Given the description of an element on the screen output the (x, y) to click on. 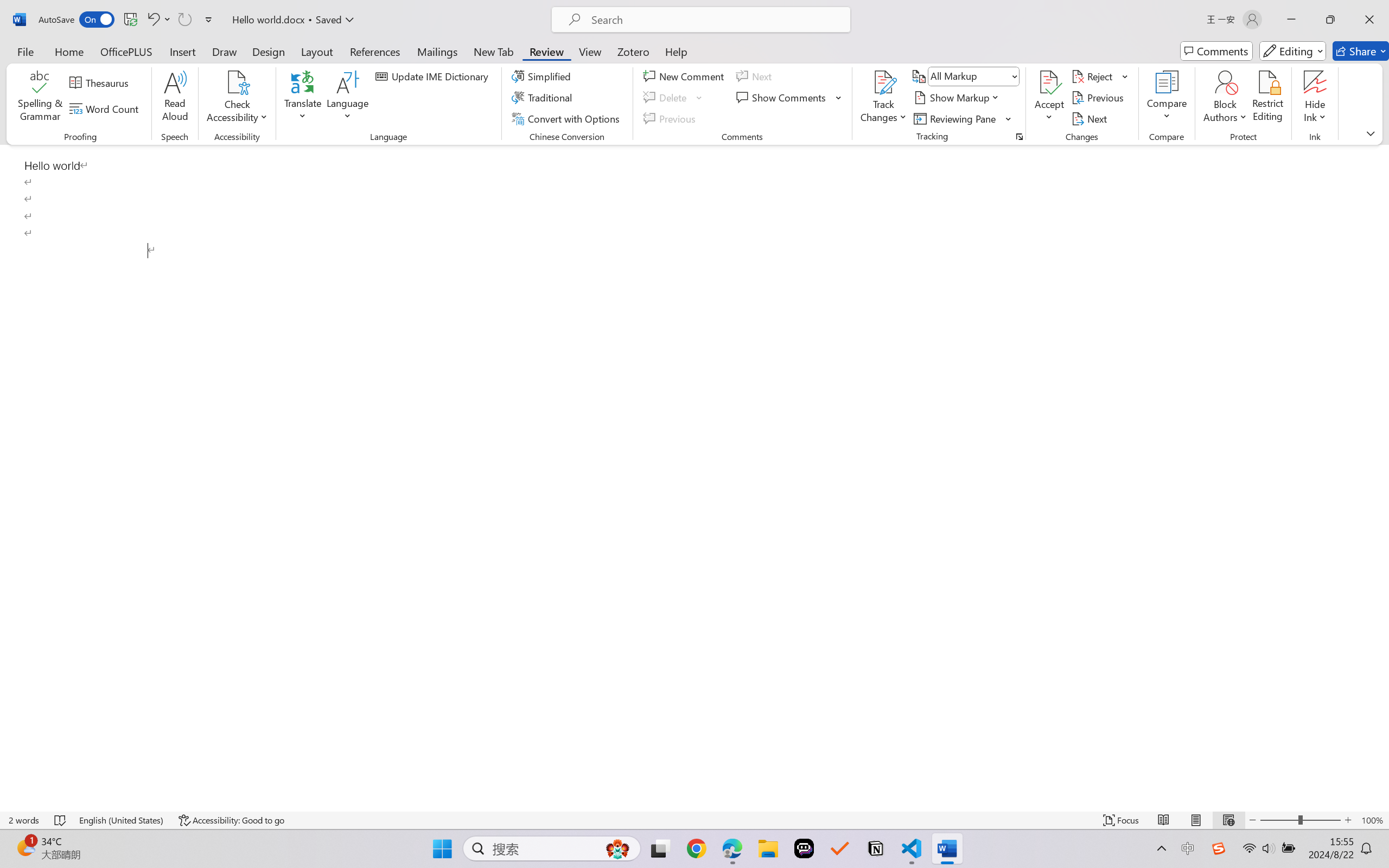
Microsoft search (715, 19)
